Given the description of an element on the screen output the (x, y) to click on. 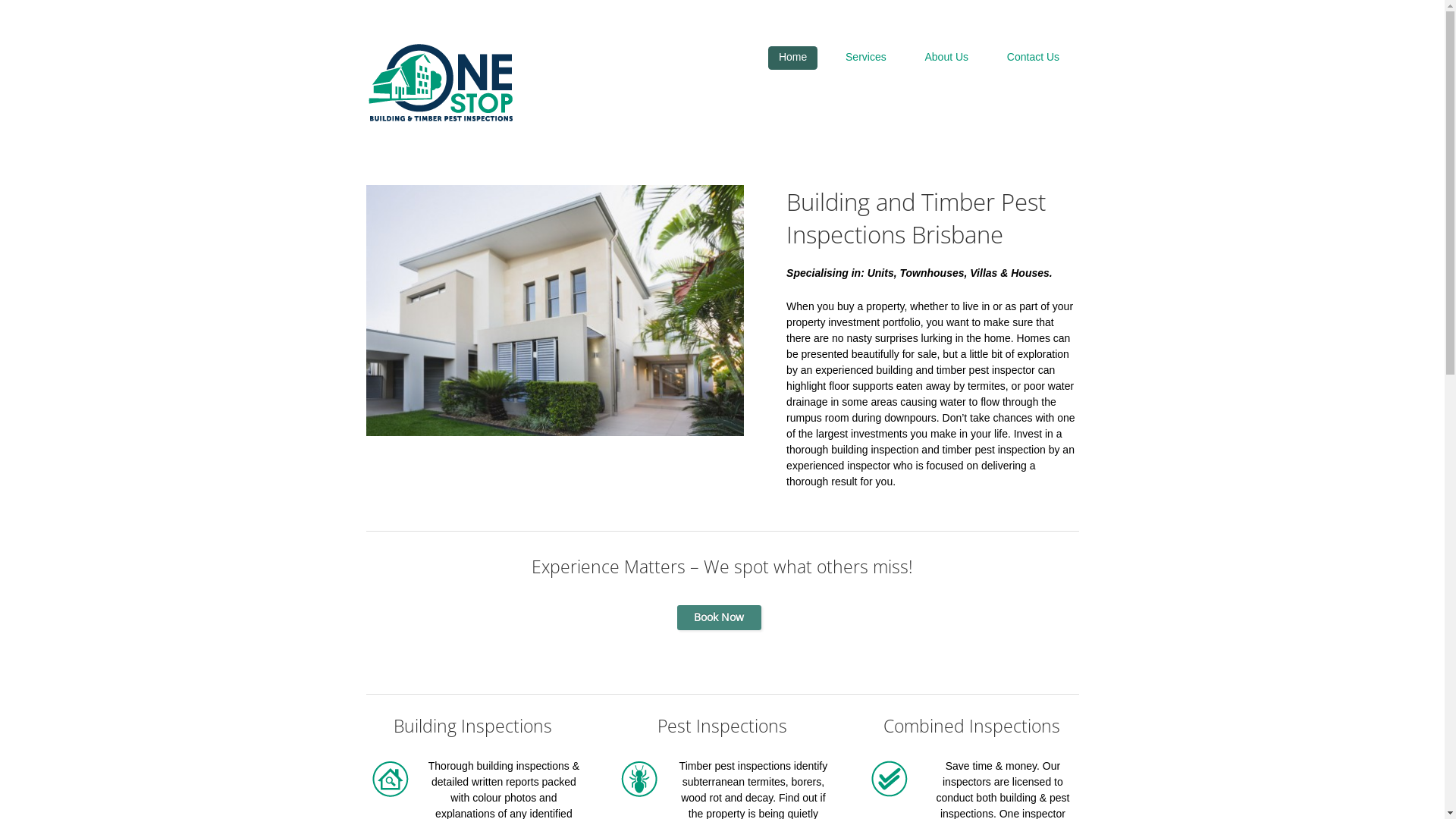
About Us Element type: text (946, 57)
Book Now Element type: text (719, 617)
Contact Us Element type: text (1033, 57)
Services Element type: text (865, 57)
Building and Timber Pest Inspections Brisbane Element type: hover (439, 81)
Building and Timber Pest Inspections Brisbane Element type: hover (554, 310)
Home Element type: text (792, 57)
